Given the description of an element on the screen output the (x, y) to click on. 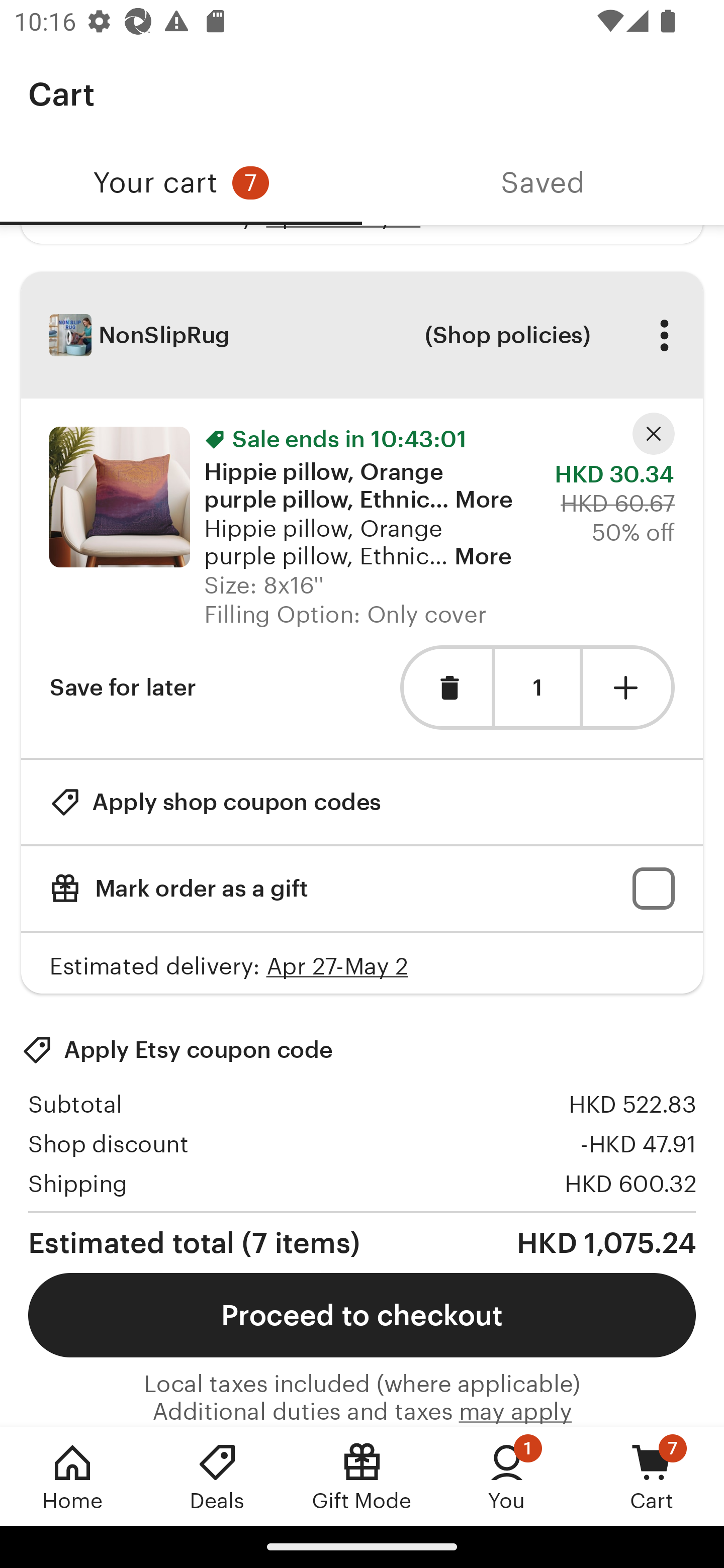
Saved, tab 2 of 2 Saved (543, 183)
NonSlipRug (Shop policies) More options (361, 334)
(Shop policies) (507, 335)
More options (663, 335)
Save for later (122, 687)
Remove item from cart (445, 687)
Add one unit to cart (628, 687)
1 (537, 688)
Apply shop coupon codes (215, 801)
Mark order as a gift (361, 888)
Apply Etsy coupon code (177, 1049)
Proceed to checkout (361, 1315)
Home (72, 1475)
Deals (216, 1475)
Gift Mode (361, 1475)
You, 1 new notification You (506, 1475)
